Given the description of an element on the screen output the (x, y) to click on. 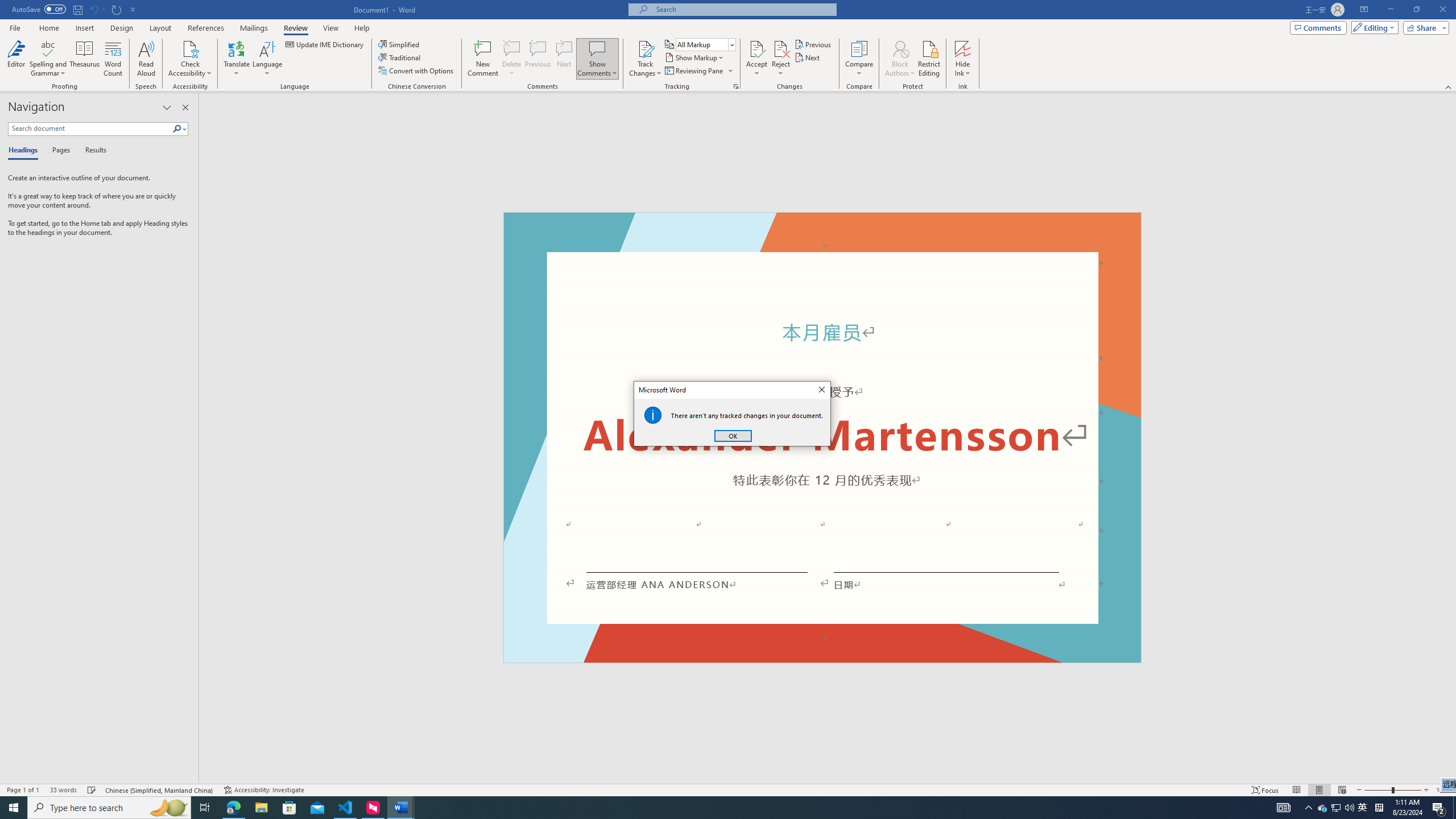
Reviewing Pane (698, 69)
Language (267, 58)
Zoom 100% (1443, 790)
Class: Static (652, 415)
Headings (25, 150)
Word - 2 running windows (400, 807)
Compare (859, 58)
File Explorer (261, 807)
Simplified (400, 44)
Spelling and Grammar (48, 48)
Q2790: 100% (1349, 807)
Repeat Doc Close (117, 9)
